Given the description of an element on the screen output the (x, y) to click on. 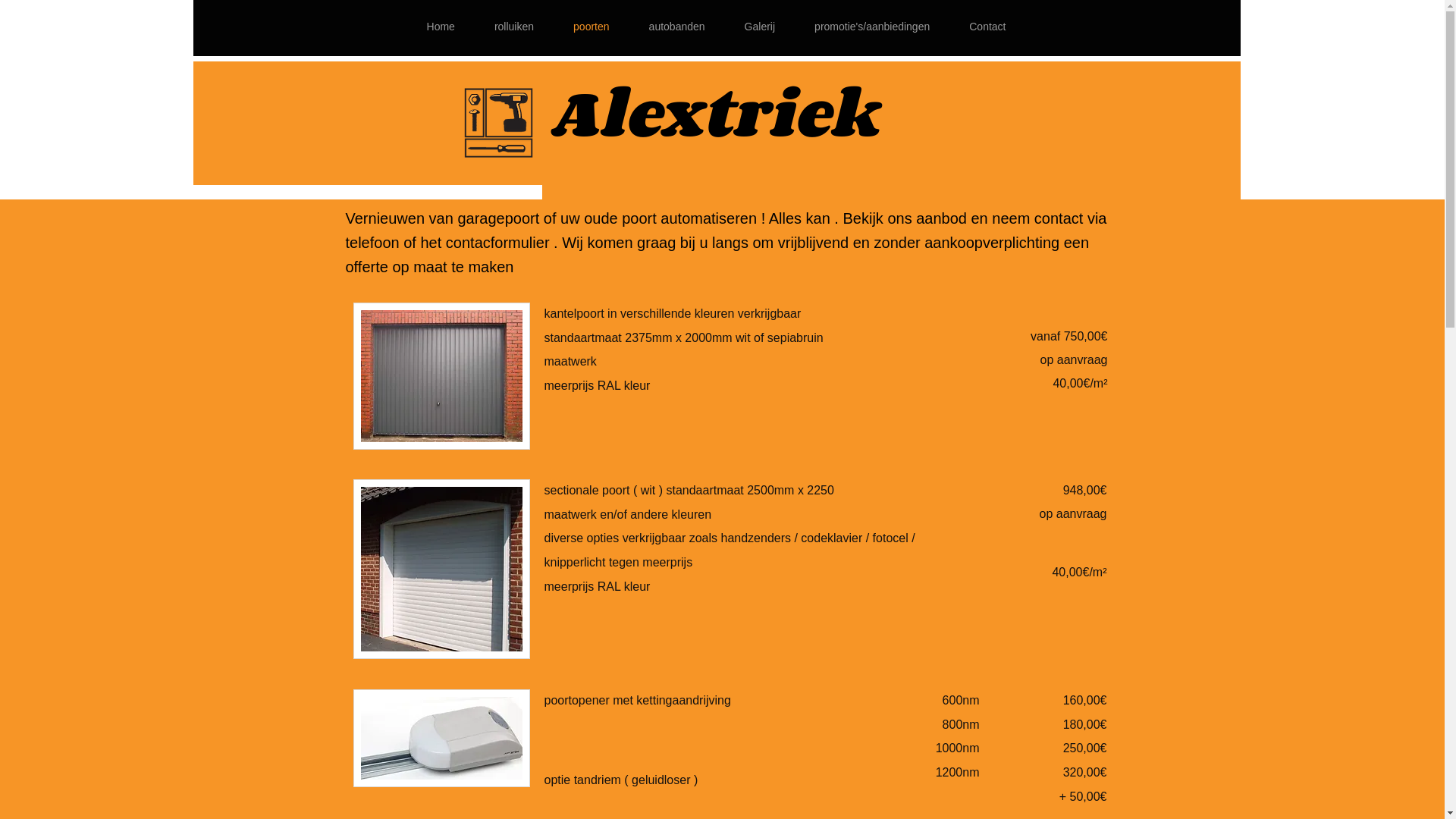
poorten Element type: text (591, 26)
Contact Element type: text (987, 26)
Galerij Element type: text (759, 26)
promotie's/aanbiedingen Element type: text (871, 26)
rolluiken Element type: text (513, 26)
autobanden Element type: text (676, 26)
Home Element type: text (439, 26)
